Given the description of an element on the screen output the (x, y) to click on. 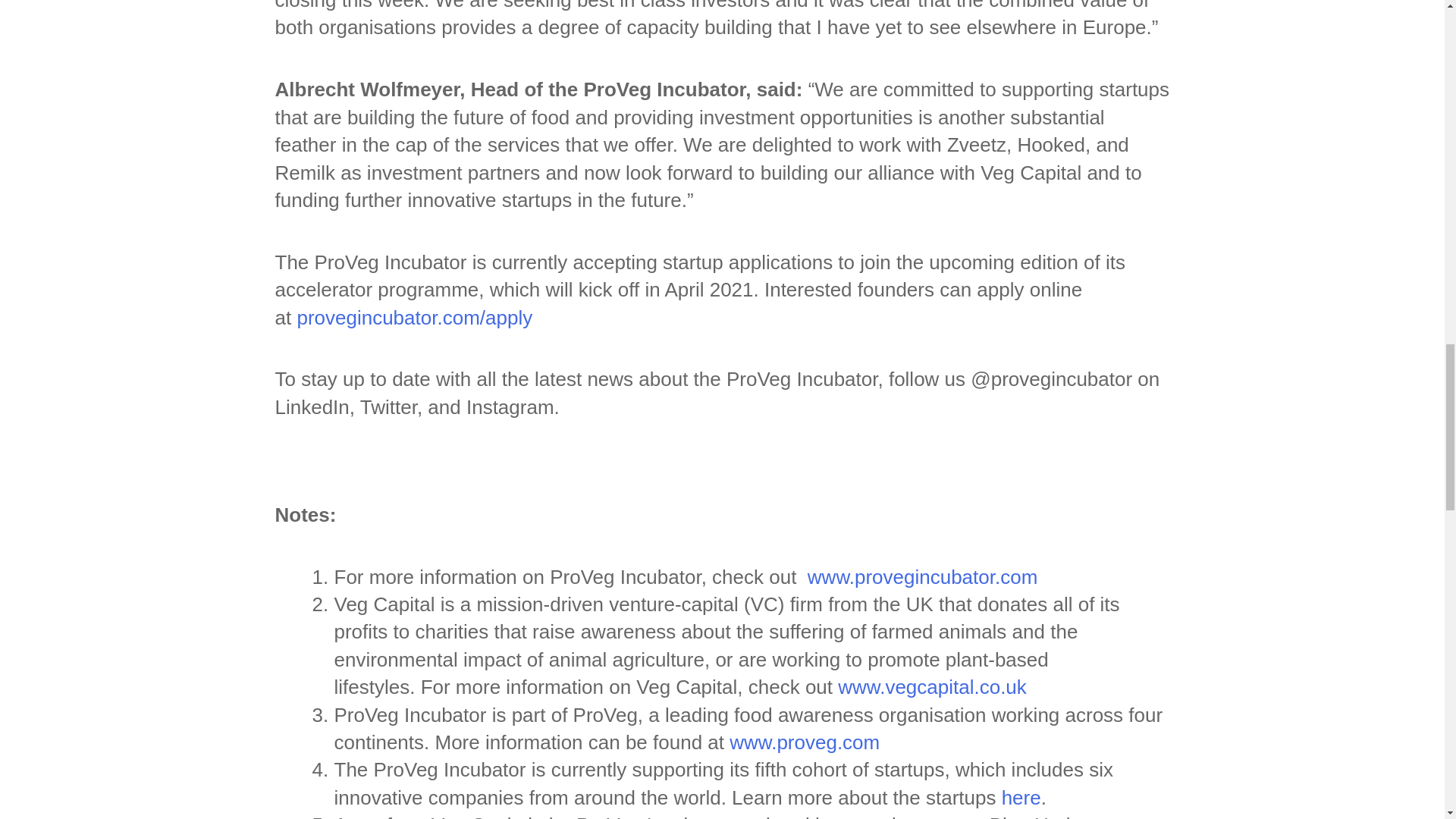
here (1021, 797)
www.vegcapital.co.uk (932, 686)
www.proveg.com (804, 742)
www.provegincubator.com (922, 576)
